Given the description of an element on the screen output the (x, y) to click on. 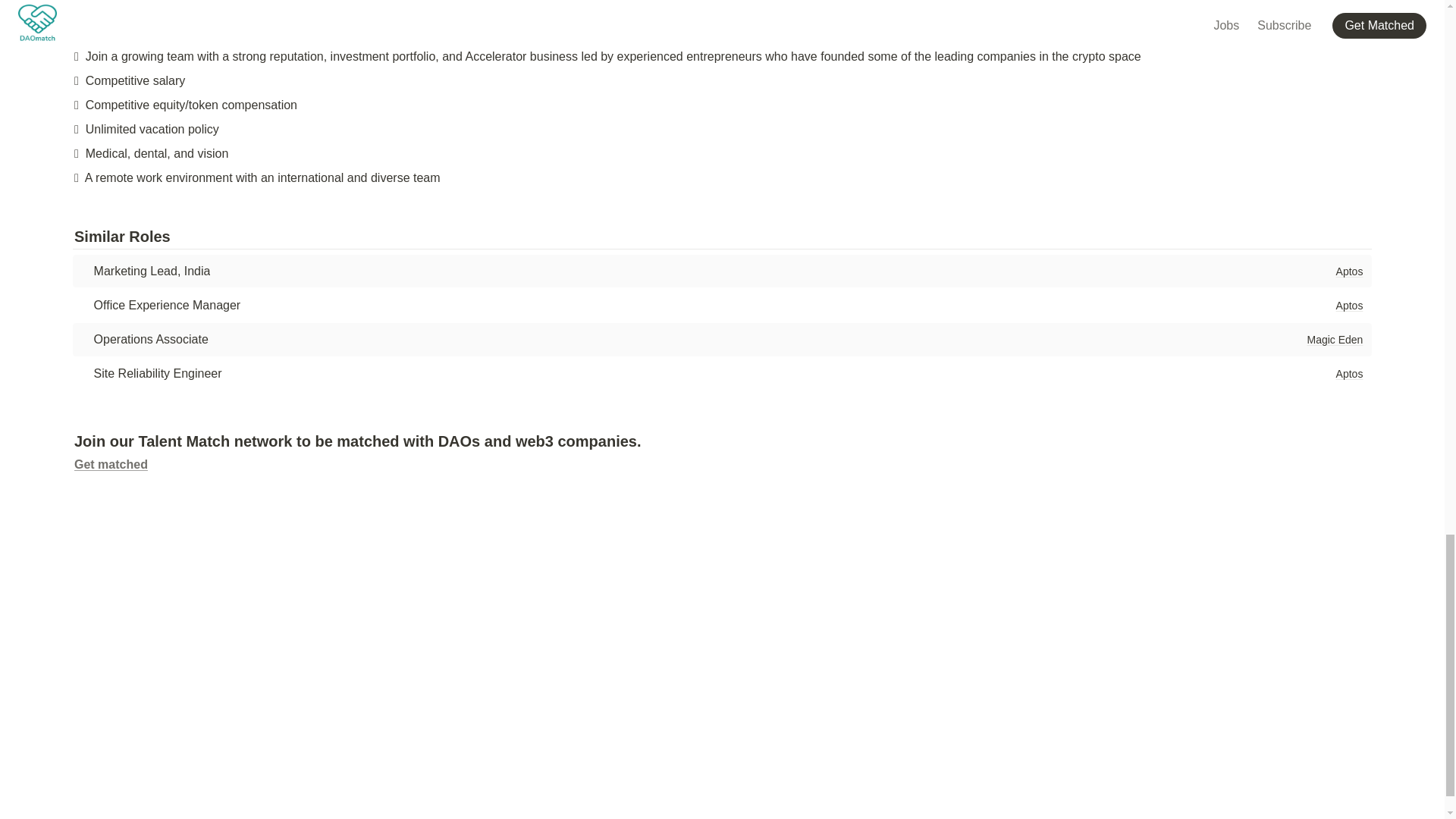
Aptos (1349, 271)
Magic Eden (1334, 339)
Get matched (111, 463)
Aptos (1349, 305)
Aptos (1349, 373)
